Given the description of an element on the screen output the (x, y) to click on. 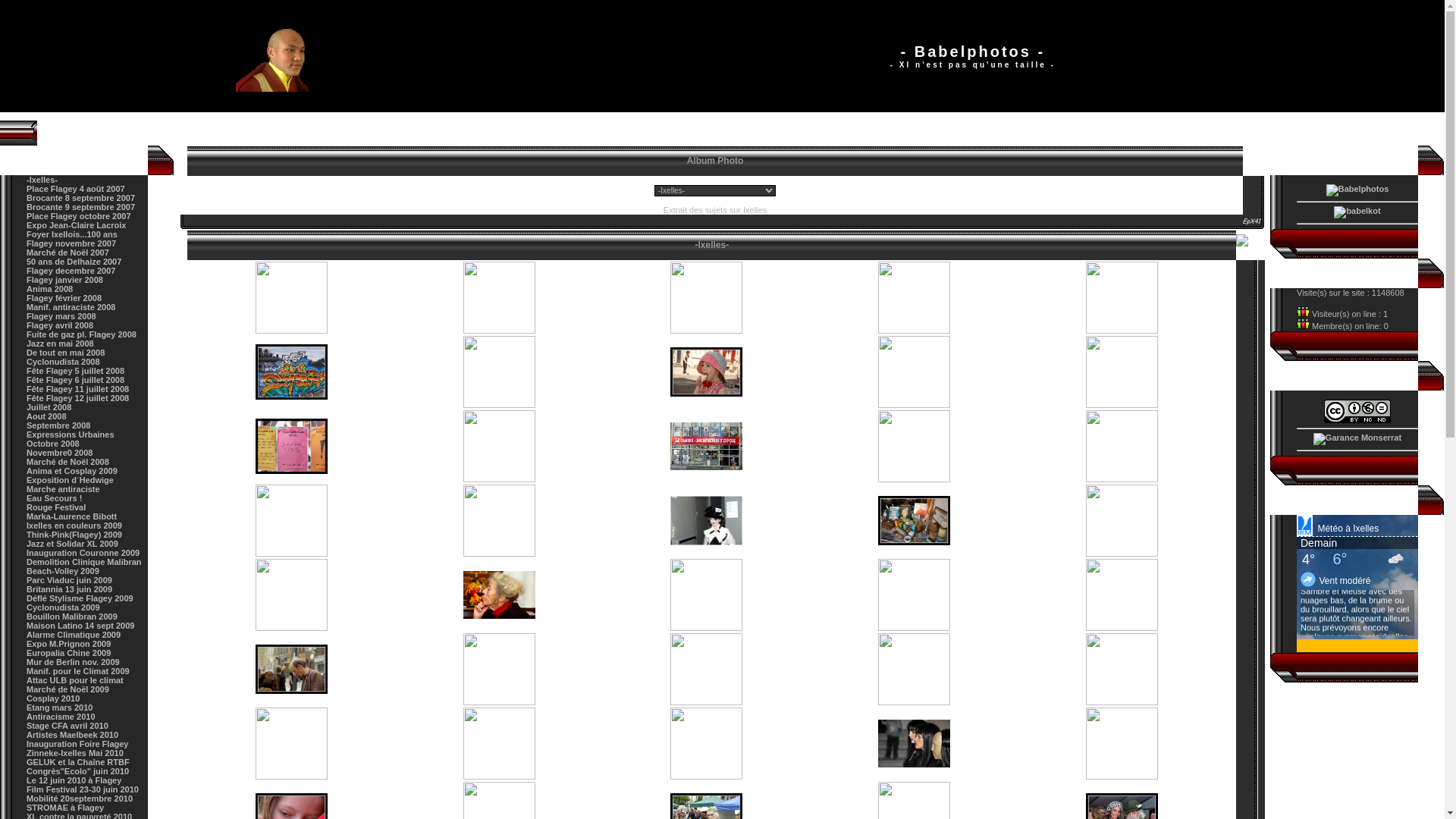
Attac ULB pour le climat Element type: text (74, 679)
Novembre0 2008 Element type: text (59, 452)
Expressions Urbaines Element type: text (70, 434)
Jazz en mai 2008 Element type: text (60, 343)
Jazz et Solidar XL 2009 Element type: text (72, 543)
 - Babelphotos - Element type: hover (282, 55)
Artistes Maelbeek 2010 Element type: text (72, 734)
babelkot Element type: hover (1356, 212)
Fuite de gaz pl. Flagey 2008 Element type: text (81, 333)
Bouillon Malibran 2009 Element type: text (71, 616)
Flagey novembre 2007 Element type: text (71, 242)
Septembre 2008 Element type: text (58, 424)
Babelphotos Element type: hover (1357, 190)
Foyer Ixellois...100 ans Element type: text (71, 233)
Inauguration Couronne 2009 Element type: text (82, 552)
Demolition Clinique Malibran Element type: text (83, 561)
De tout en mai 2008 Element type: text (65, 352)
Flagey decembre 2007 Element type: text (70, 270)
Rouge Festival Element type: text (55, 506)
Cyclonudista 2009 Element type: text (63, 606)
Cyclonudista 2008 Element type: text (63, 361)
Antiracisme 2010 Element type: text (60, 716)
Flagey mars 2008 Element type: text (61, 315)
Stage CFA avril 2010 Element type: text (67, 725)
Anima et Cosplay 2009 Element type: text (71, 470)
Etang mars 2010 Element type: text (59, 707)
Expo M.Prignon 2009 Element type: text (68, 643)
Accueil Element type: text (195, 132)
Anima 2008 Element type: text (49, 288)
Garance Monserrat Element type: hover (1357, 439)
Octobre 2008 Element type: text (52, 443)
Eau Secours ! Element type: text (53, 497)
Brocante 9 septembre 2007 Element type: text (80, 206)
Manif. antiraciste 2008 Element type: text (70, 306)
Britannia 13 juin 2009 Element type: text (69, 588)
Marka-Laurence Bibott Element type: text (71, 515)
Beach-Volley 2009 Element type: text (62, 570)
Expo Jean-Claire Lacroix Element type: text (75, 224)
Flagey avril 2008 Element type: text (59, 324)
Ixelles en couleurs 2009 Element type: text (74, 525)
Inauguration Foire Flagey Element type: text (77, 743)
50 ans de Delhaize 2007 Element type: text (73, 261)
Parc Viaduc juin 2009 Element type: text (69, 579)
CC Element type: hover (1357, 411)
Cosplay 2010 Element type: text (52, 697)
Mur de Berlin nov. 2009 Element type: text (72, 661)
Europalia Chine 2009 Element type: text (68, 652)
-Ixelles- Element type: text (41, 179)
Zinneke-Ixelles Mai 2010 Element type: text (74, 752)
Film Festival 23-30 juin 2010 Element type: text (82, 788)
Aout 2008 Element type: text (46, 415)
Marche antiraciste Element type: text (63, 488)
Alarme Climatique 2009 Element type: text (73, 634)
Juillet 2008 Element type: text (48, 406)
Fermer Element type: hover (1250, 244)
Place Flagey octobre 2007 Element type: text (78, 215)
Brocante 8 septembre 2007 Element type: text (80, 197)
Flagey janvier 2008 Element type: text (64, 279)
Think-Pink(Flagey) 2009 Element type: text (74, 534)
Maison Latino 14 sept 2009 Element type: text (80, 625)
Manif. pour le Climat 2009 Element type: text (77, 670)
